Given the description of an element on the screen output the (x, y) to click on. 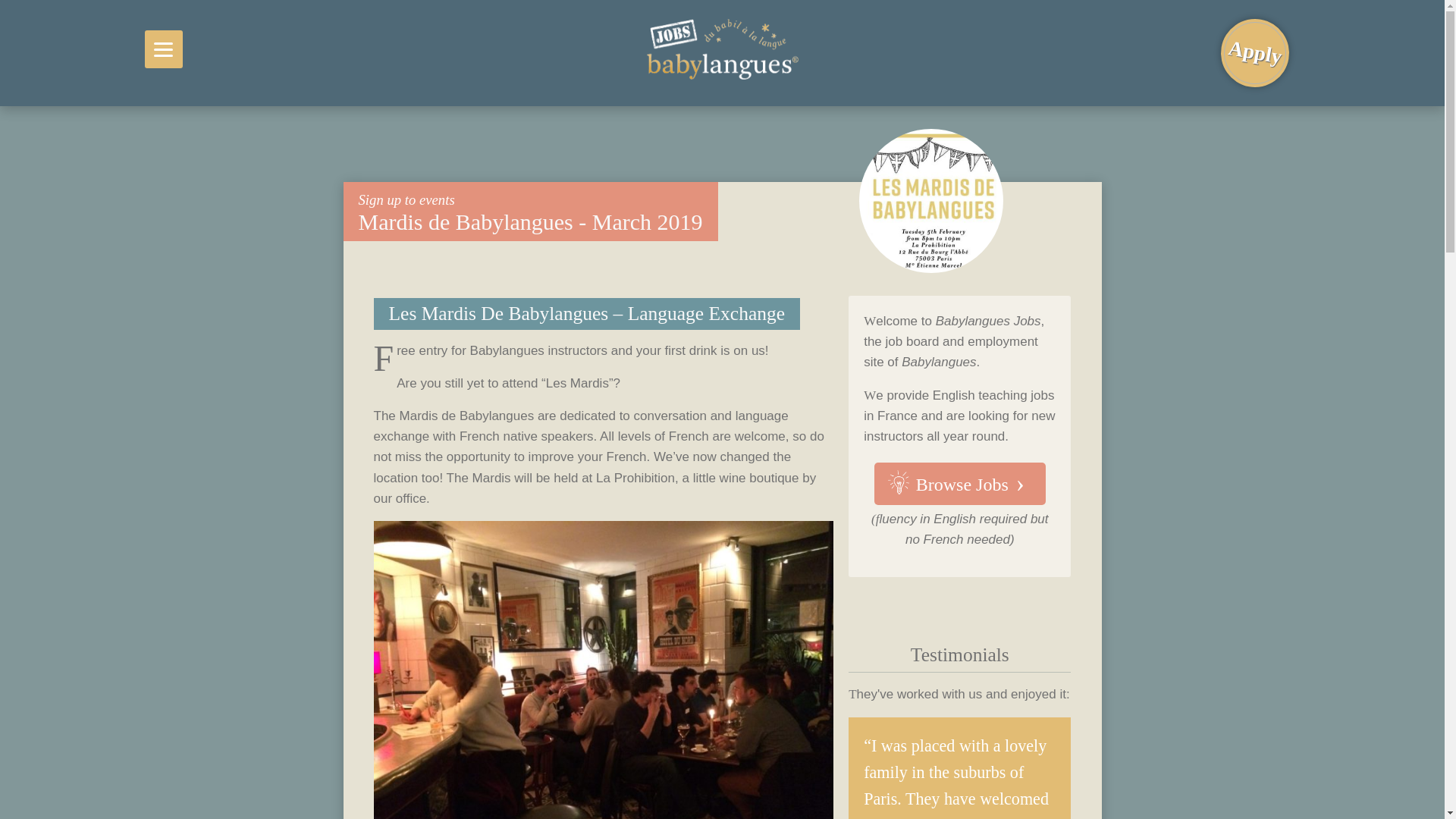
Sign up to events (406, 199)
Apply (1248, 47)
Back to category index... (406, 199)
